Given the description of an element on the screen output the (x, y) to click on. 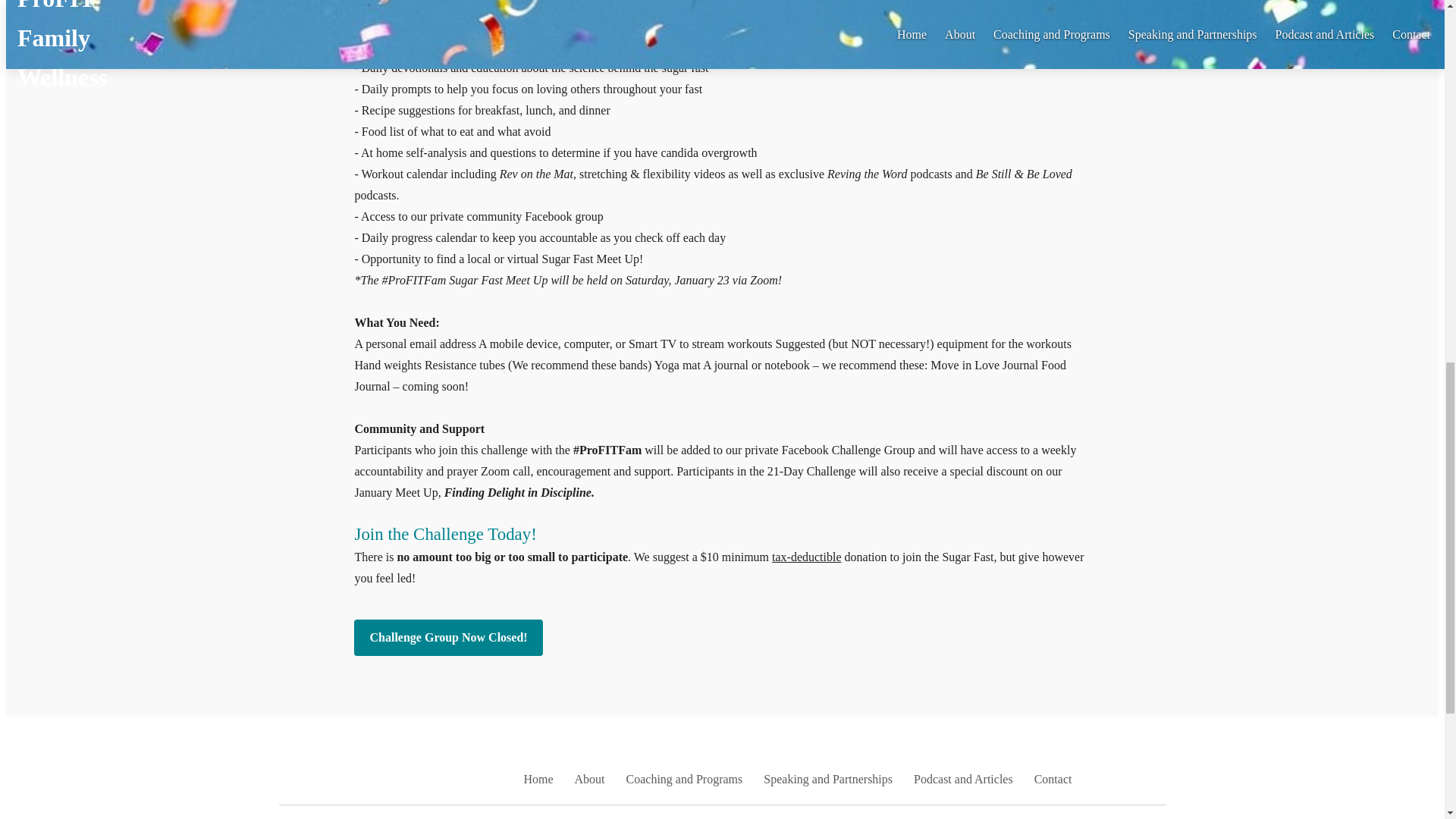
Podcast and Articles (963, 779)
Coaching and Programs (684, 779)
Speaking and Partnerships (827, 779)
About (590, 779)
Home (537, 779)
Contact (1052, 779)
Challenge Group Now Closed! (447, 637)
